Given the description of an element on the screen output the (x, y) to click on. 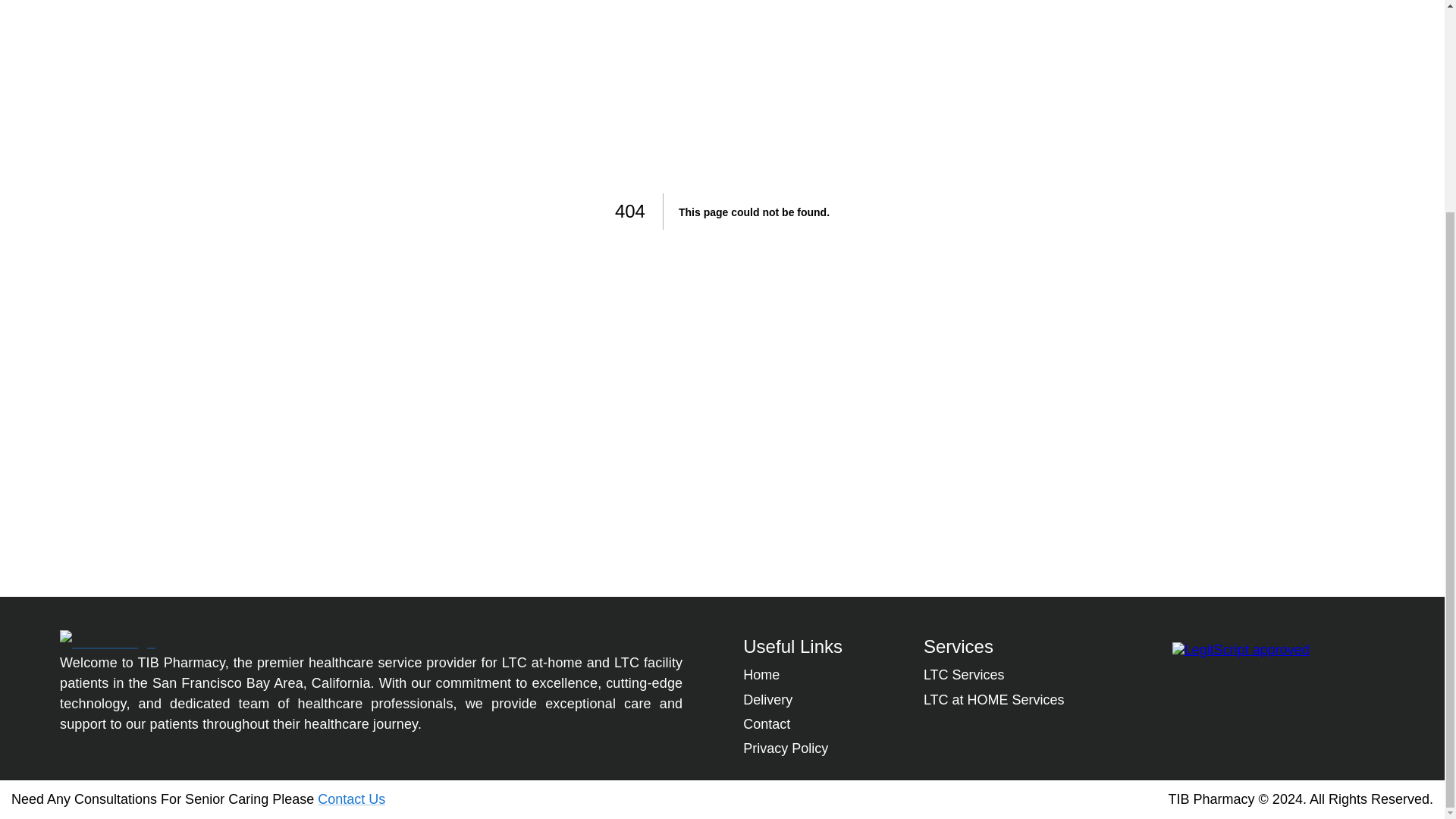
LTC Services (963, 674)
Contact Us (351, 798)
Services (957, 646)
Verify LegitScript Approval (1240, 649)
Useful Links (792, 646)
LTC at HOME Services (993, 699)
Privacy Policy (785, 748)
Home (760, 674)
Delivery (767, 699)
Contact (766, 724)
